Given the description of an element on the screen output the (x, y) to click on. 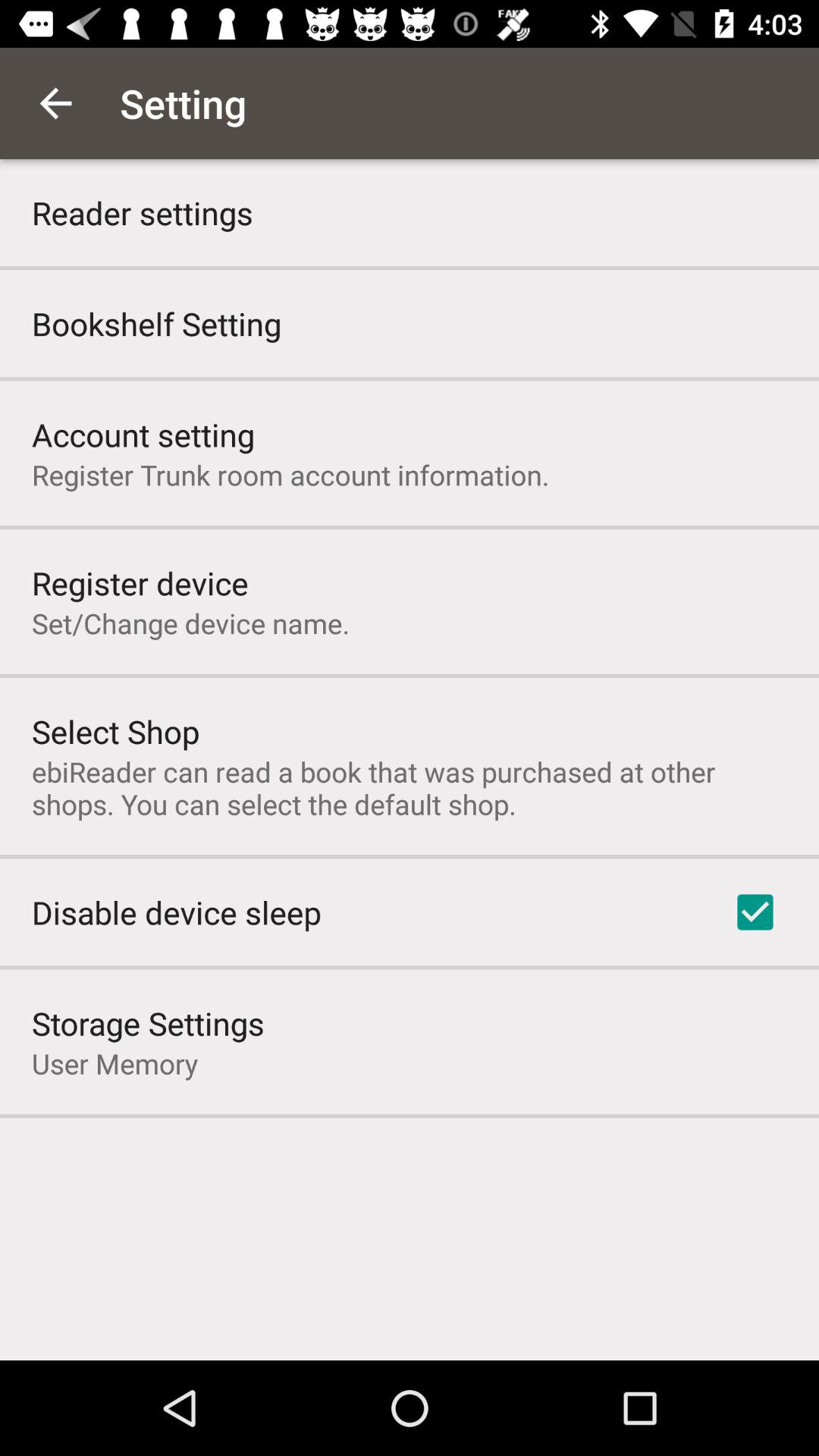
flip to ebireader can read item (409, 787)
